Given the description of an element on the screen output the (x, y) to click on. 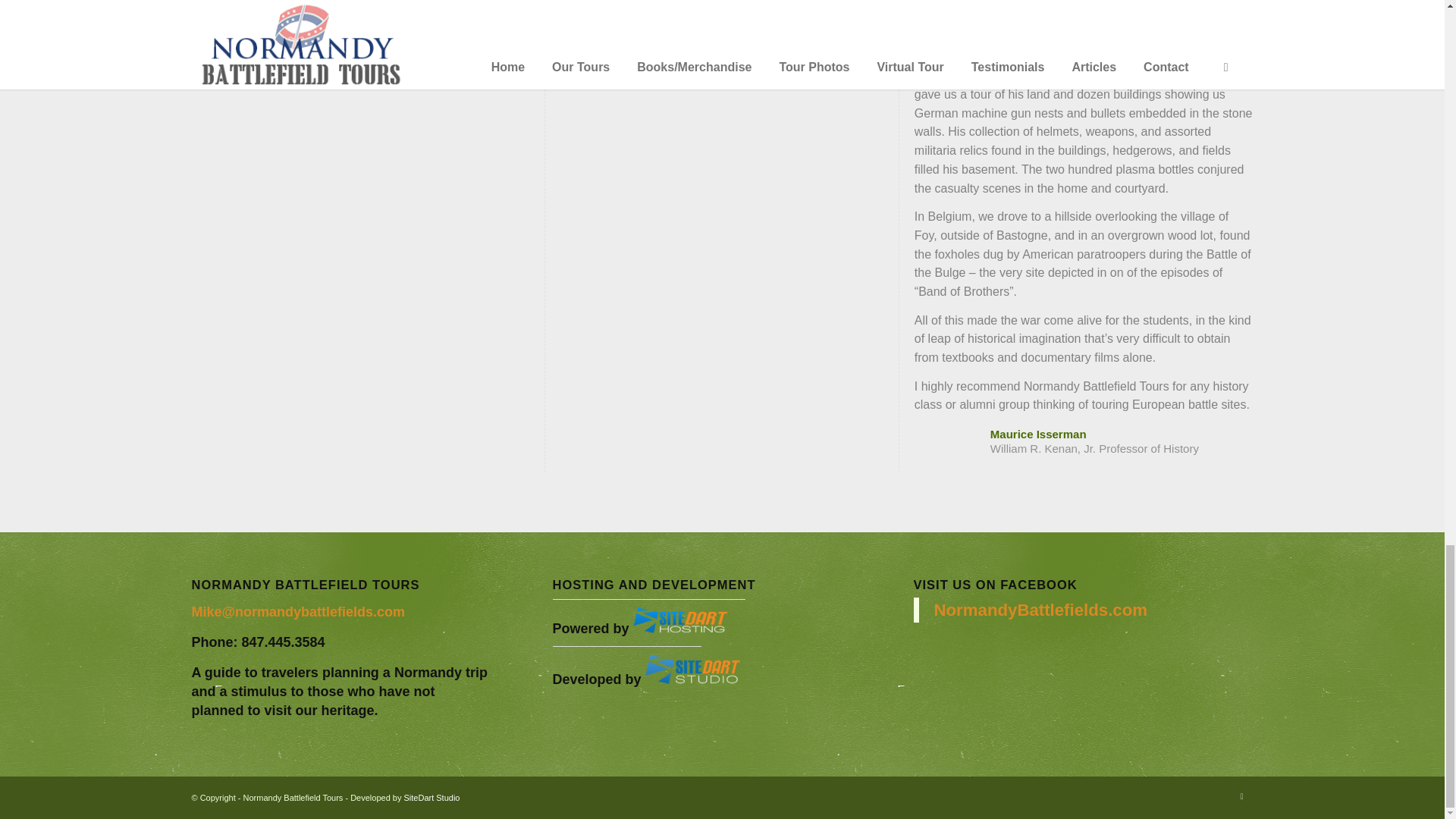
SiteDart Studio (431, 797)
Facebook (1241, 795)
NormandyBattlefields.com (1041, 609)
